Given the description of an element on the screen output the (x, y) to click on. 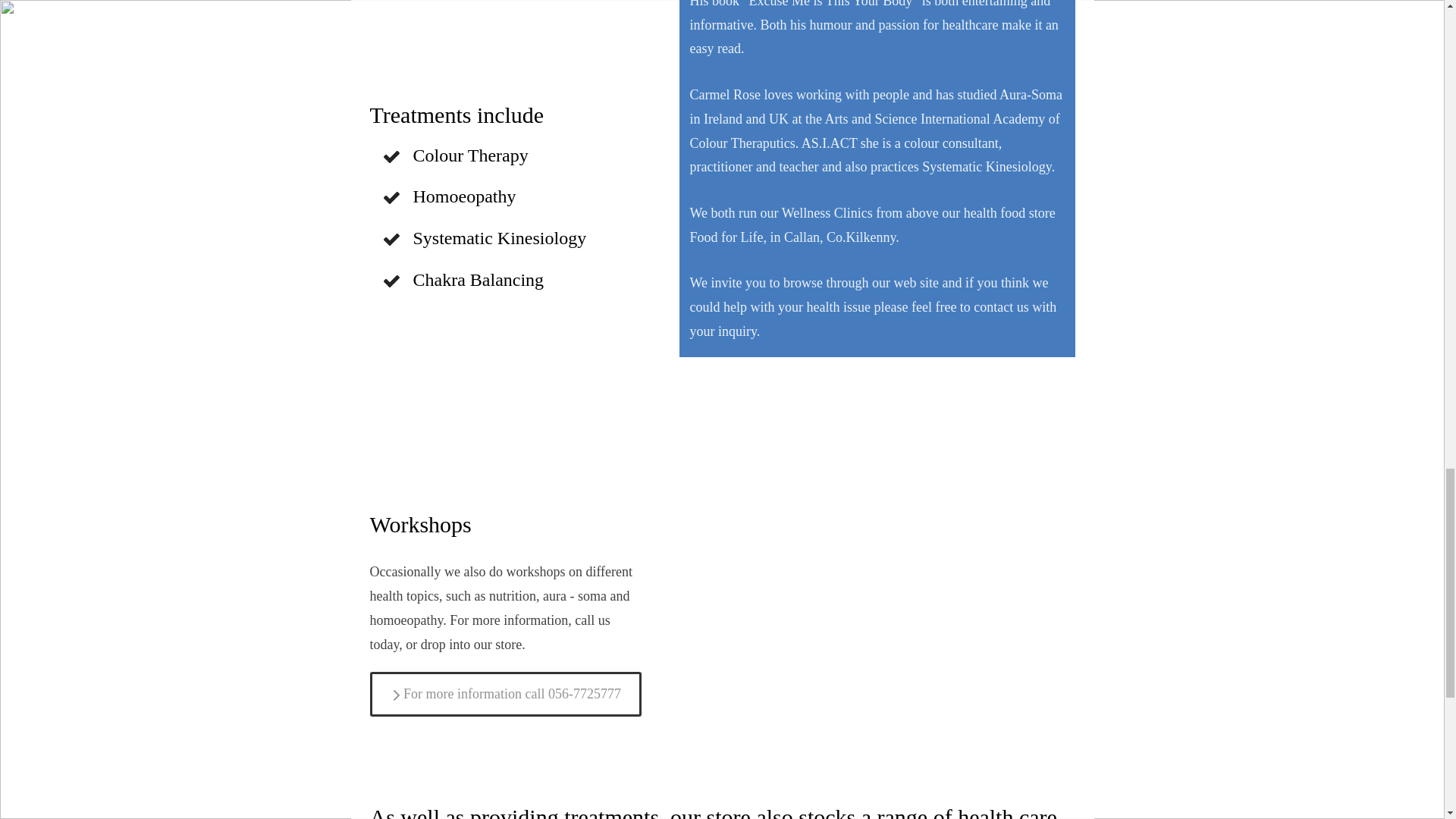
For more information call 056-7725777 (505, 693)
